Given the description of an element on the screen output the (x, y) to click on. 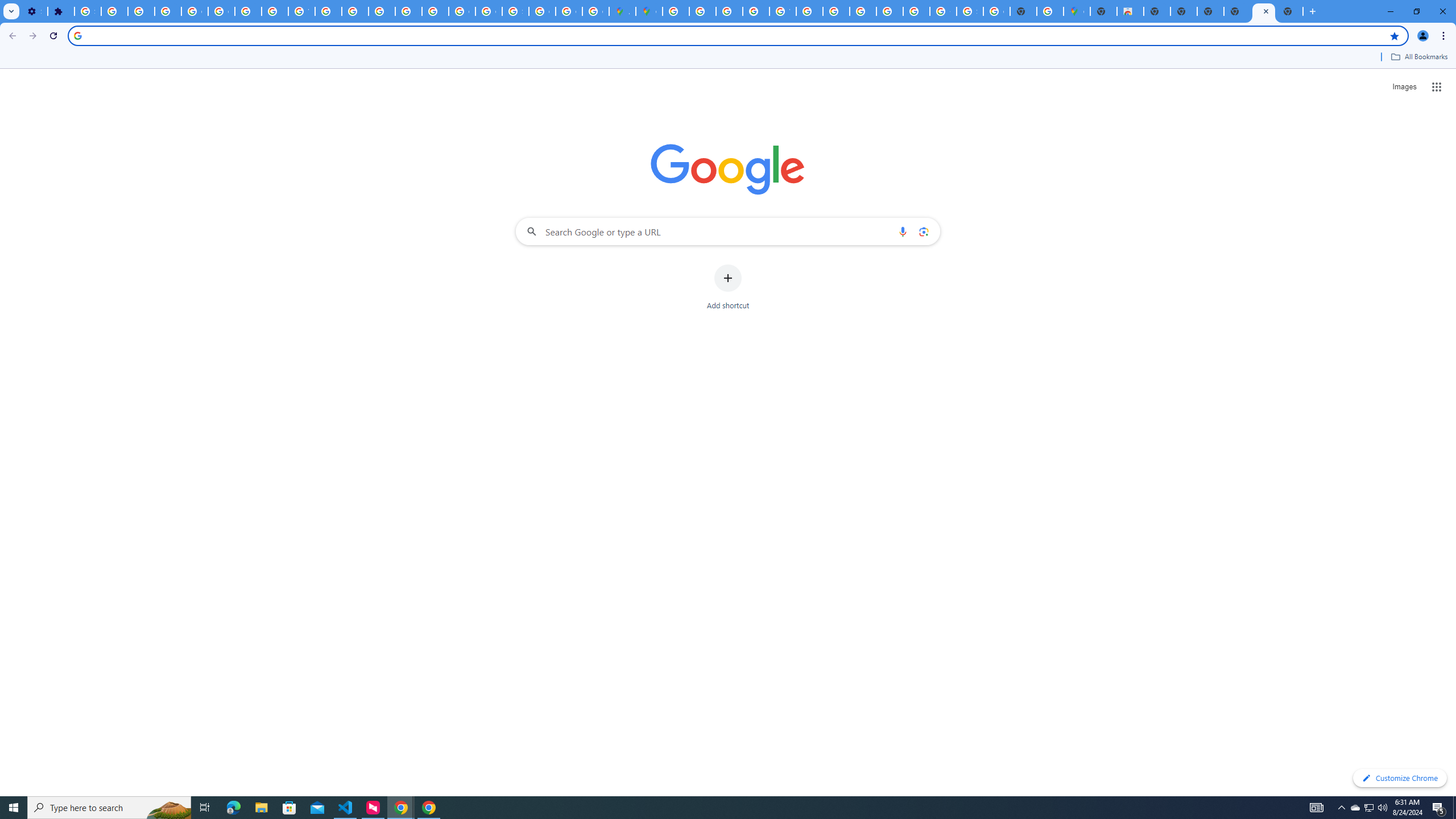
Search Google or type a URL (727, 230)
Settings - On startup (34, 11)
Privacy Help Center - Policies Help (355, 11)
